Given the description of an element on the screen output the (x, y) to click on. 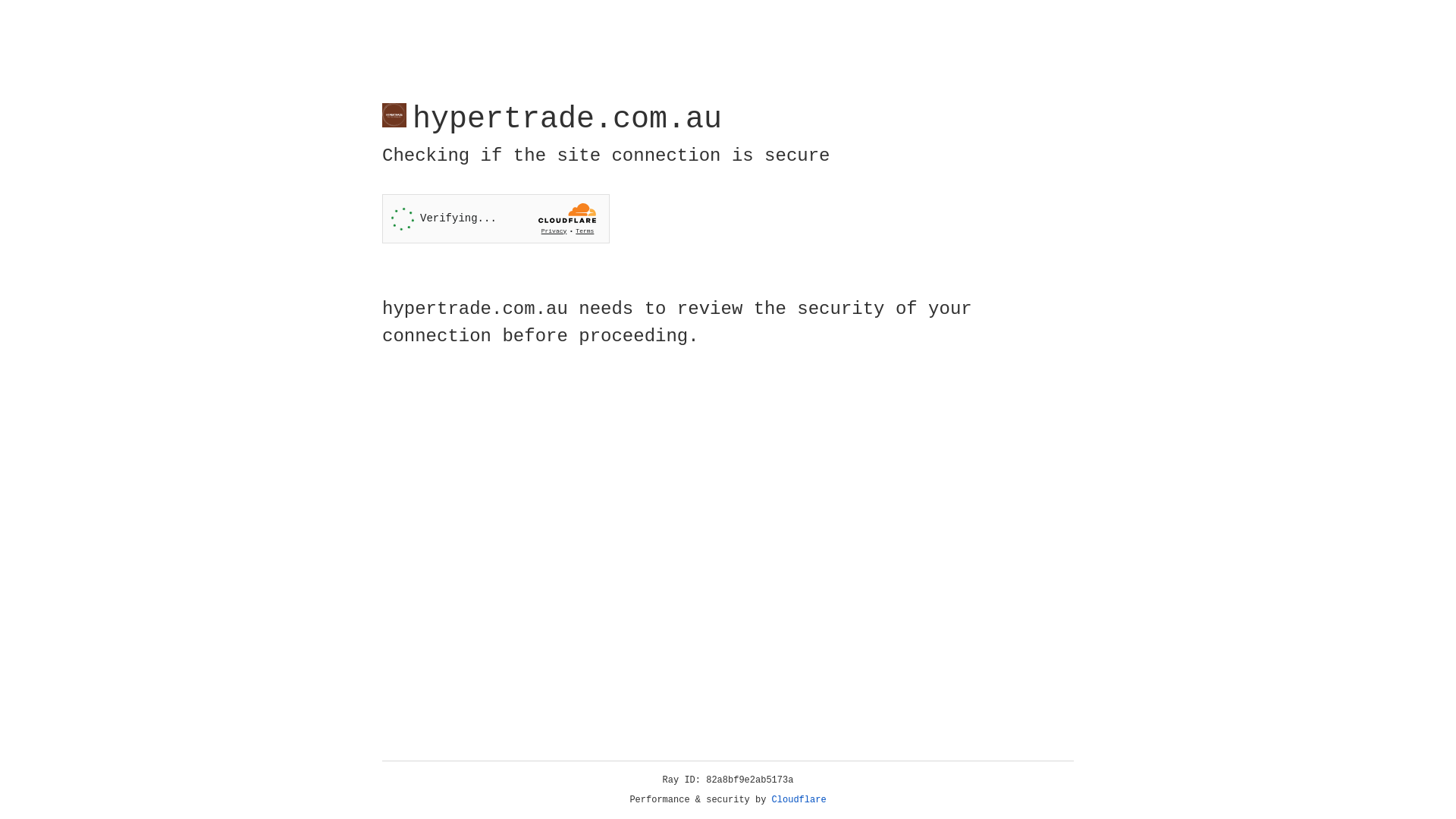
Cloudflare Element type: text (798, 799)
Widget containing a Cloudflare security challenge Element type: hover (495, 218)
